Given the description of an element on the screen output the (x, y) to click on. 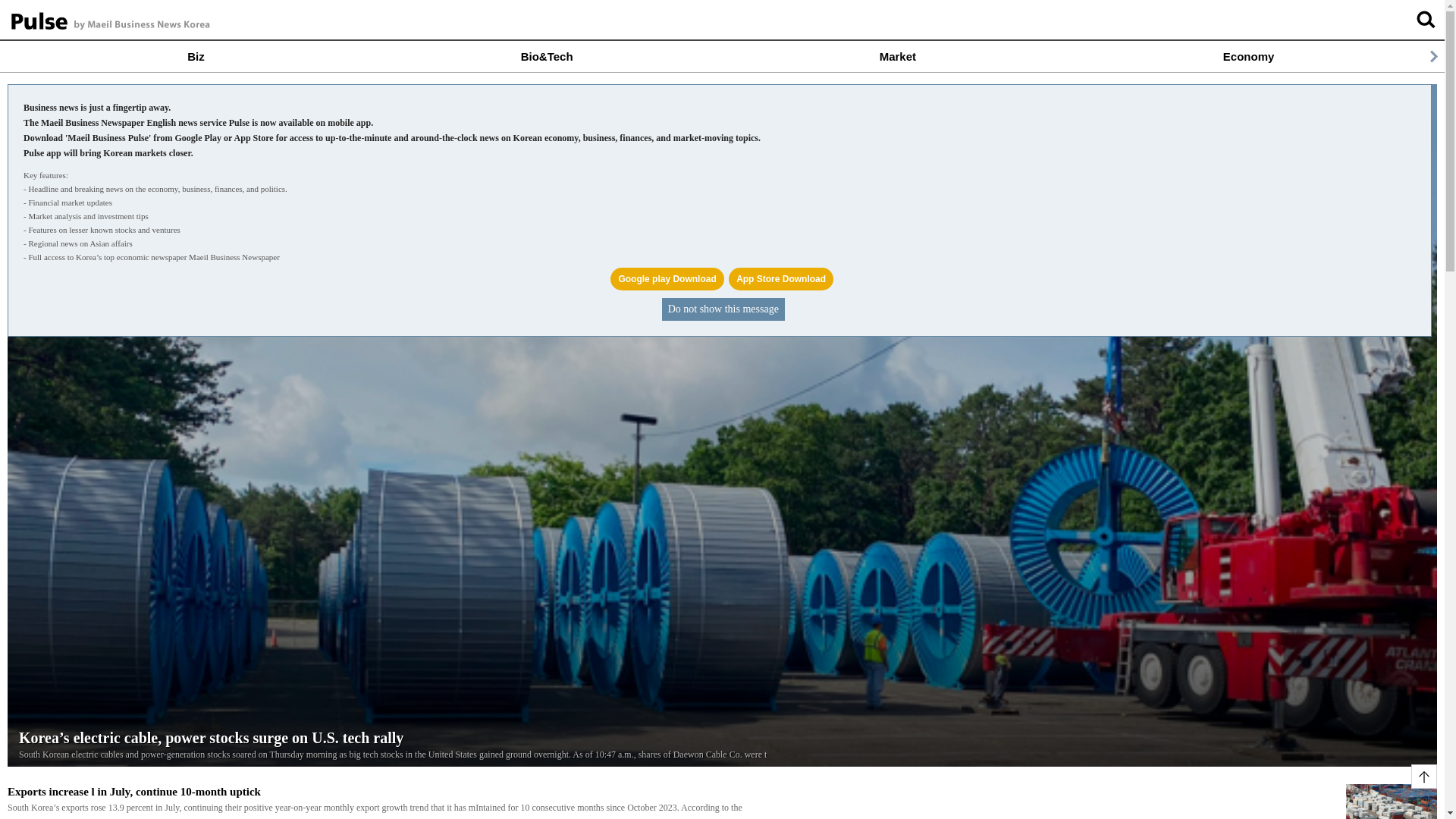
Do not show this message (723, 309)
Economy (1249, 56)
Google play Download (666, 278)
Market (897, 56)
Biz (196, 56)
App Store Download (780, 278)
